Given the description of an element on the screen output the (x, y) to click on. 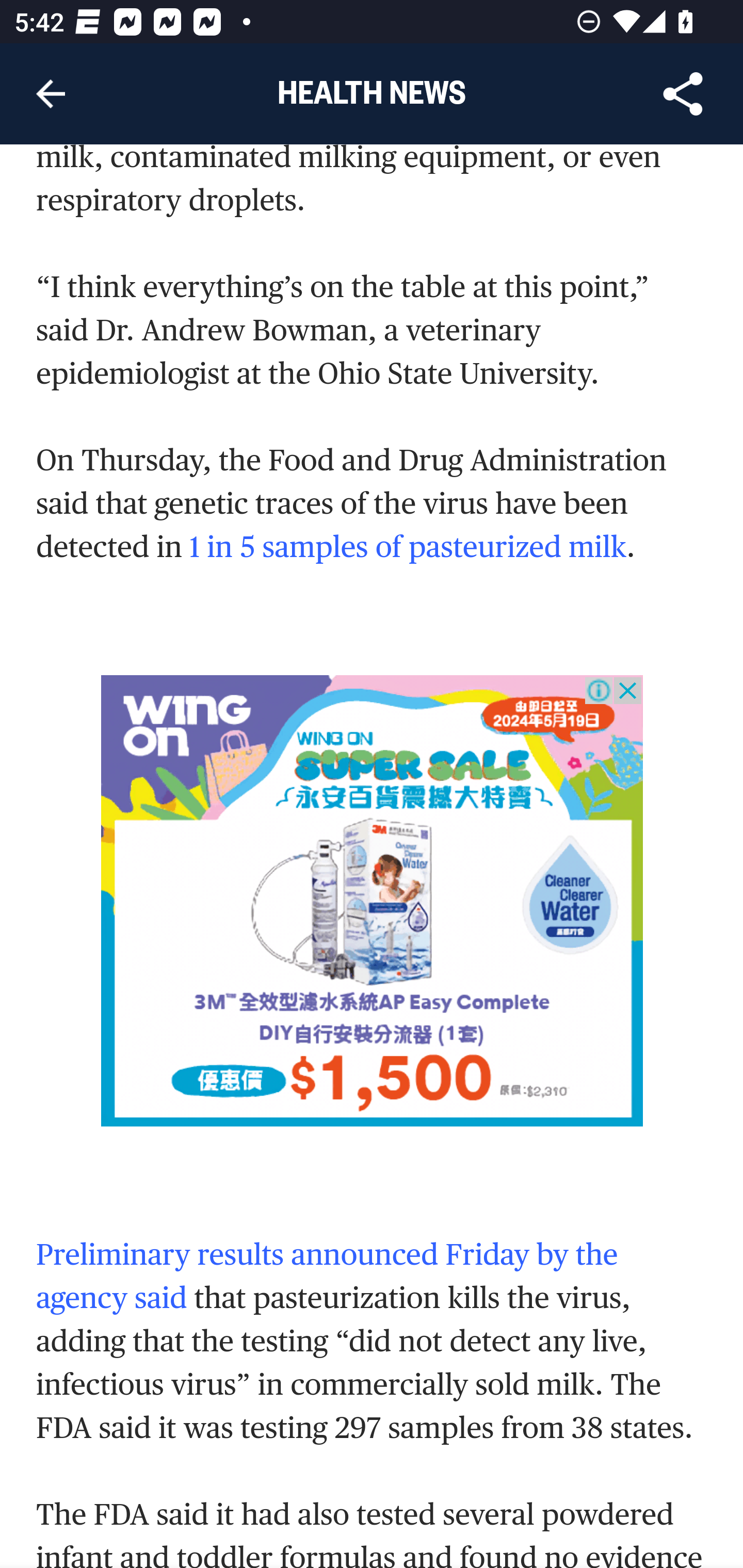
Navigate up (50, 93)
Share Article, button (683, 94)
1 in 5 samples of pasteurized milk (407, 546)
